Given the description of an element on the screen output the (x, y) to click on. 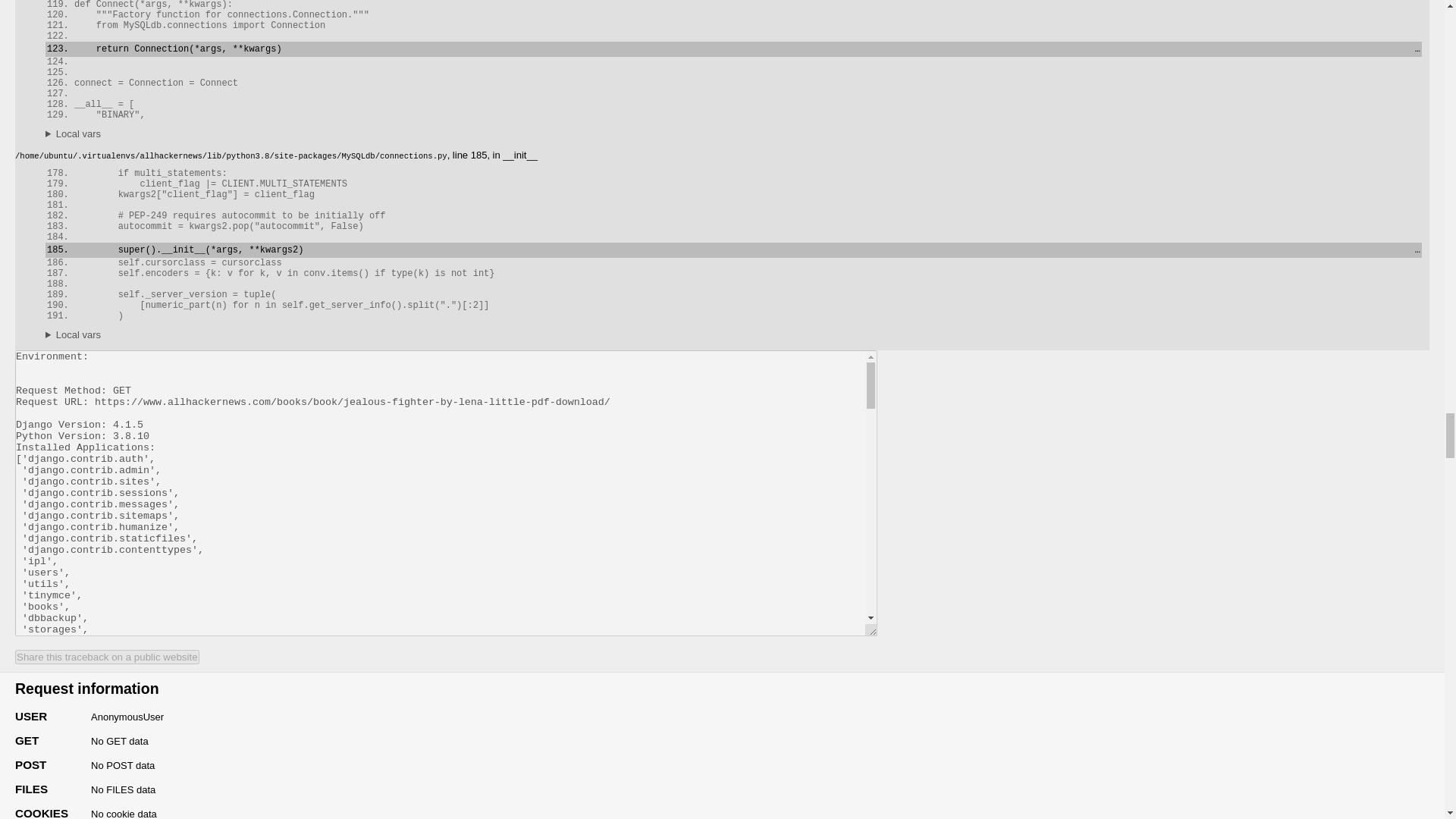
Share this traceback on a public website (106, 657)
Share this traceback on a public website (106, 657)
